Given the description of an element on the screen output the (x, y) to click on. 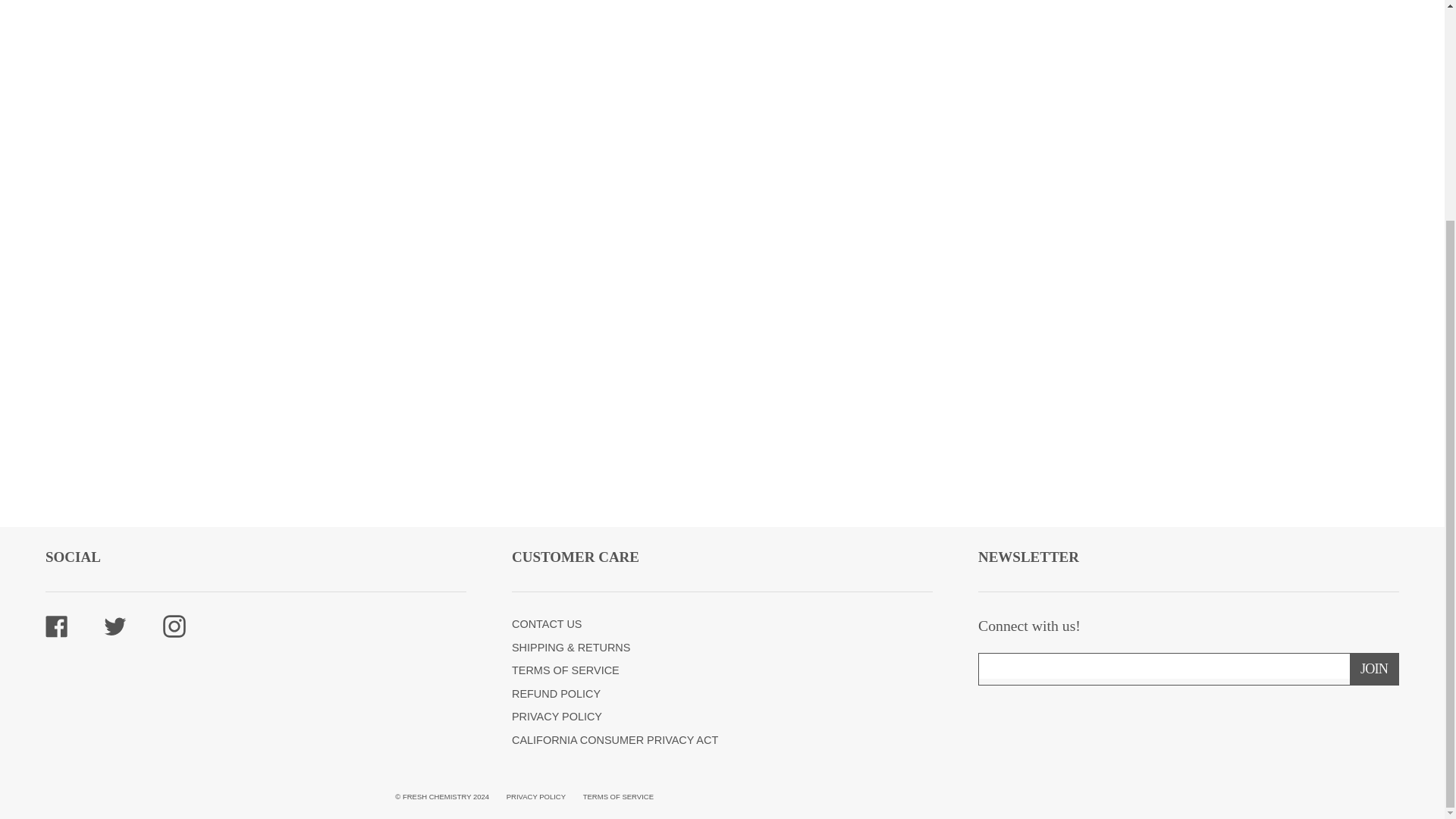
TERMS OF SERVICE (566, 670)
CALIFORNIA CONSUMER PRIVACY ACT (614, 739)
Join (1373, 668)
TERMS OF SERVICE (618, 796)
PRIVACY POLICY (536, 796)
FRESH CHEMISTRY on Instagram (174, 625)
Facebook (56, 625)
Instagram (174, 625)
Join (1373, 668)
REFUND POLICY (555, 693)
